Given the description of an element on the screen output the (x, y) to click on. 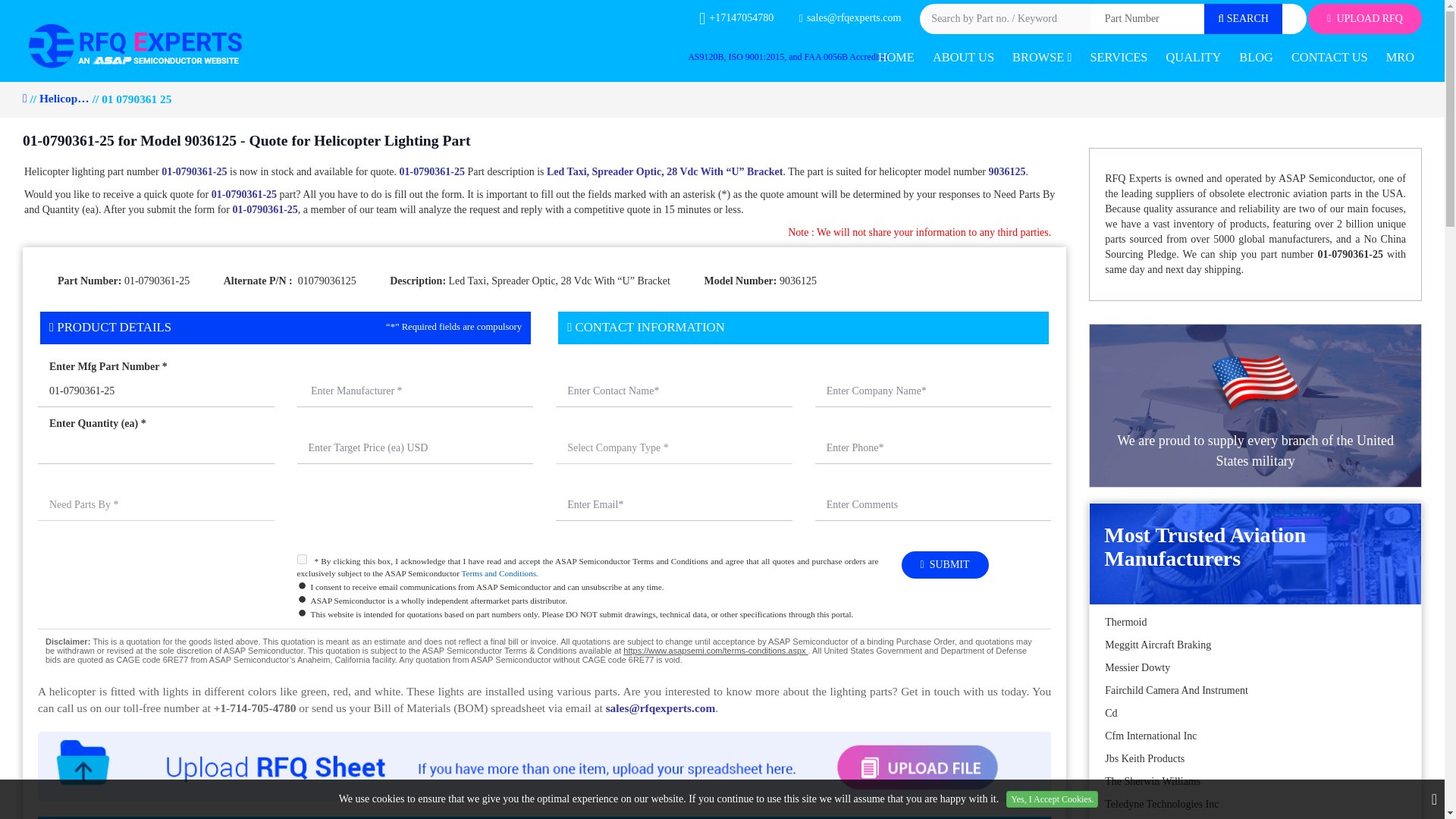
ABOUT US (962, 56)
BROWSE (1041, 56)
disclaiemr (544, 649)
HOME (895, 56)
01-0790361-25 (156, 391)
on (302, 559)
  UPLOAD RFQ (1364, 19)
